Given the description of an element on the screen output the (x, y) to click on. 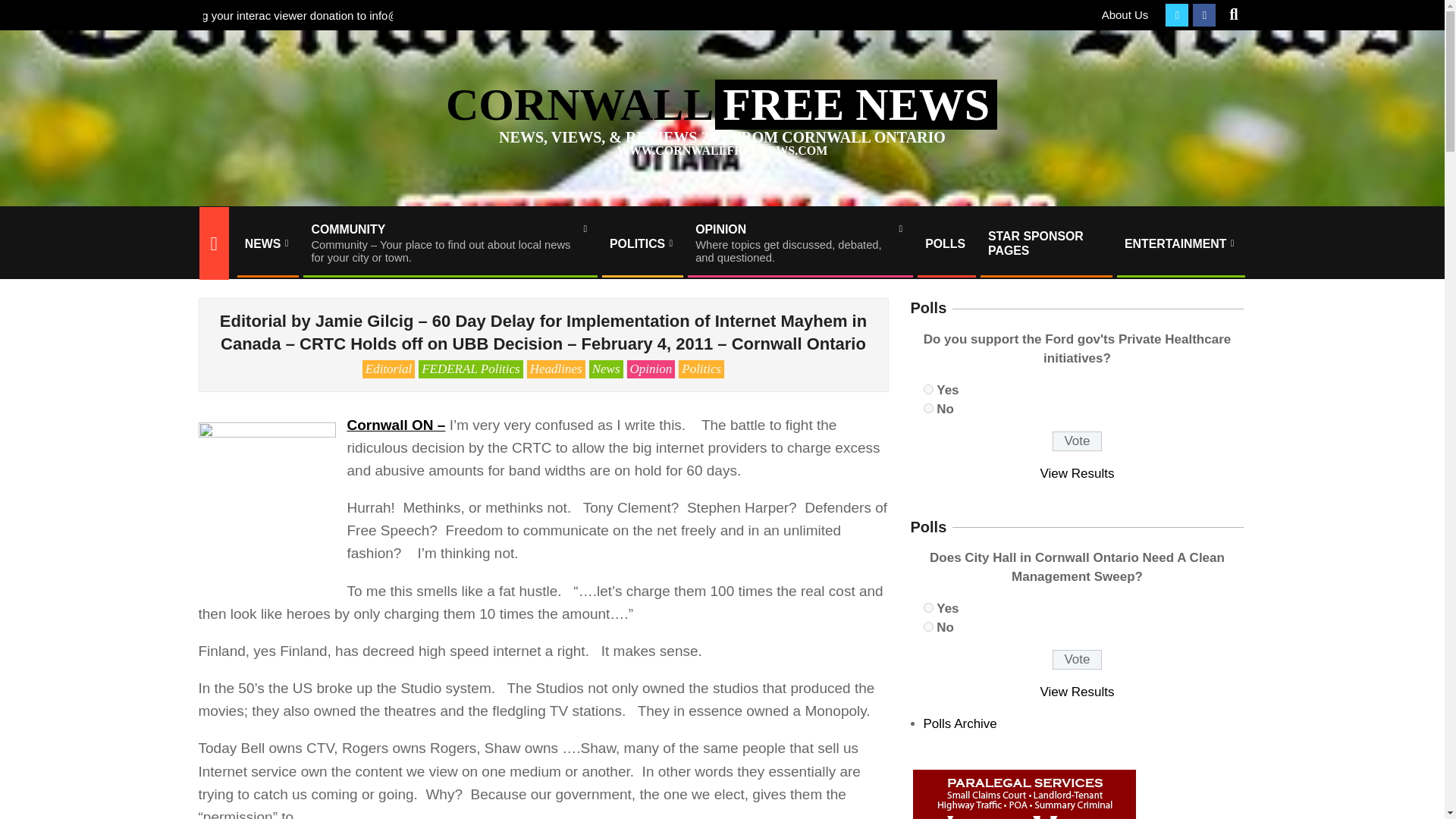
1770 (928, 607)
STAR SPONSOR PAGES (799, 243)
NEWS (1044, 243)
ENTERTAINMENT (265, 243)
POLITICS (1179, 243)
About Us (641, 243)
POLLS (1125, 14)
   Vote    (945, 243)
1771 (1076, 441)
1776 (928, 626)
1777 (928, 388)
Search (928, 408)
   Vote    (24, 9)
